Given the description of an element on the screen output the (x, y) to click on. 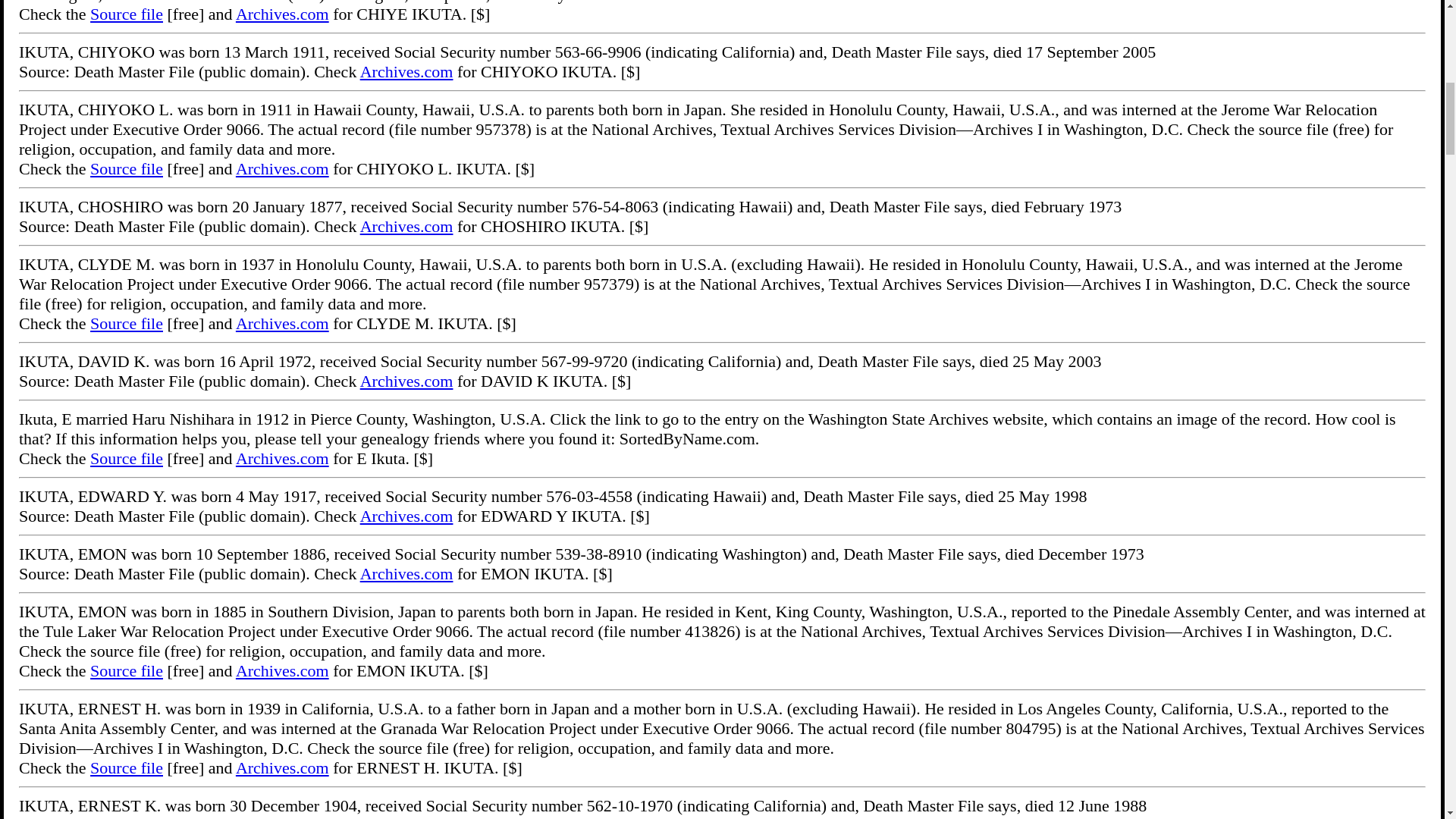
Archives.com (282, 168)
Source file (126, 670)
Archives.com (405, 71)
Archives.com (282, 13)
Source file (126, 322)
Archives.com (405, 226)
Archives.com (282, 457)
Source file (126, 767)
Archives.com (282, 322)
Source file (126, 13)
Source file (126, 457)
Archives.com (282, 670)
Archives.com (282, 767)
Archives.com (405, 573)
Archives.com (405, 817)
